Given the description of an element on the screen output the (x, y) to click on. 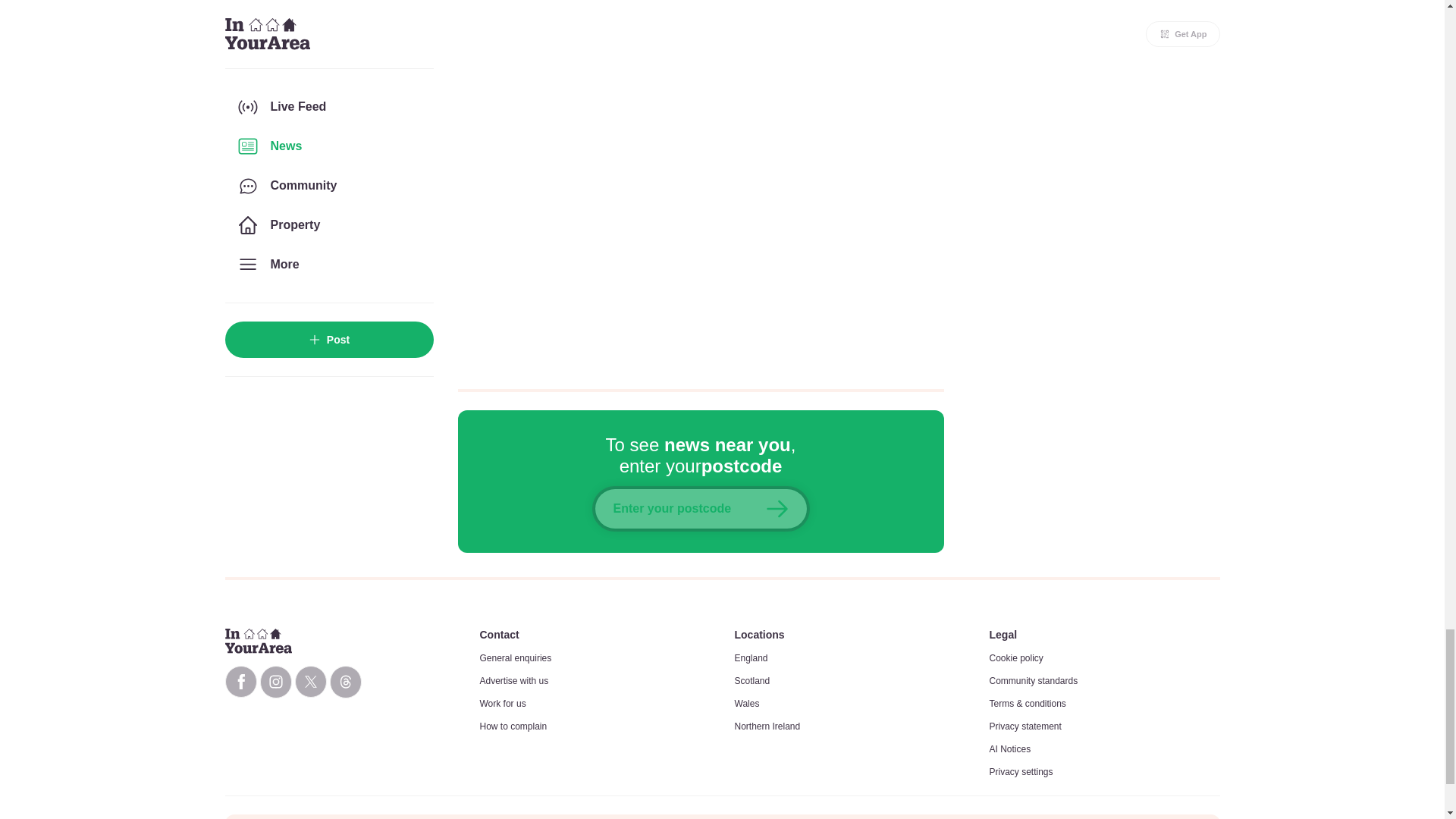
InYourArea Threads (345, 681)
InYourArea Instagram (275, 681)
InYourArea X (310, 681)
InYourArea Facebook (240, 681)
